Given the description of an element on the screen output the (x, y) to click on. 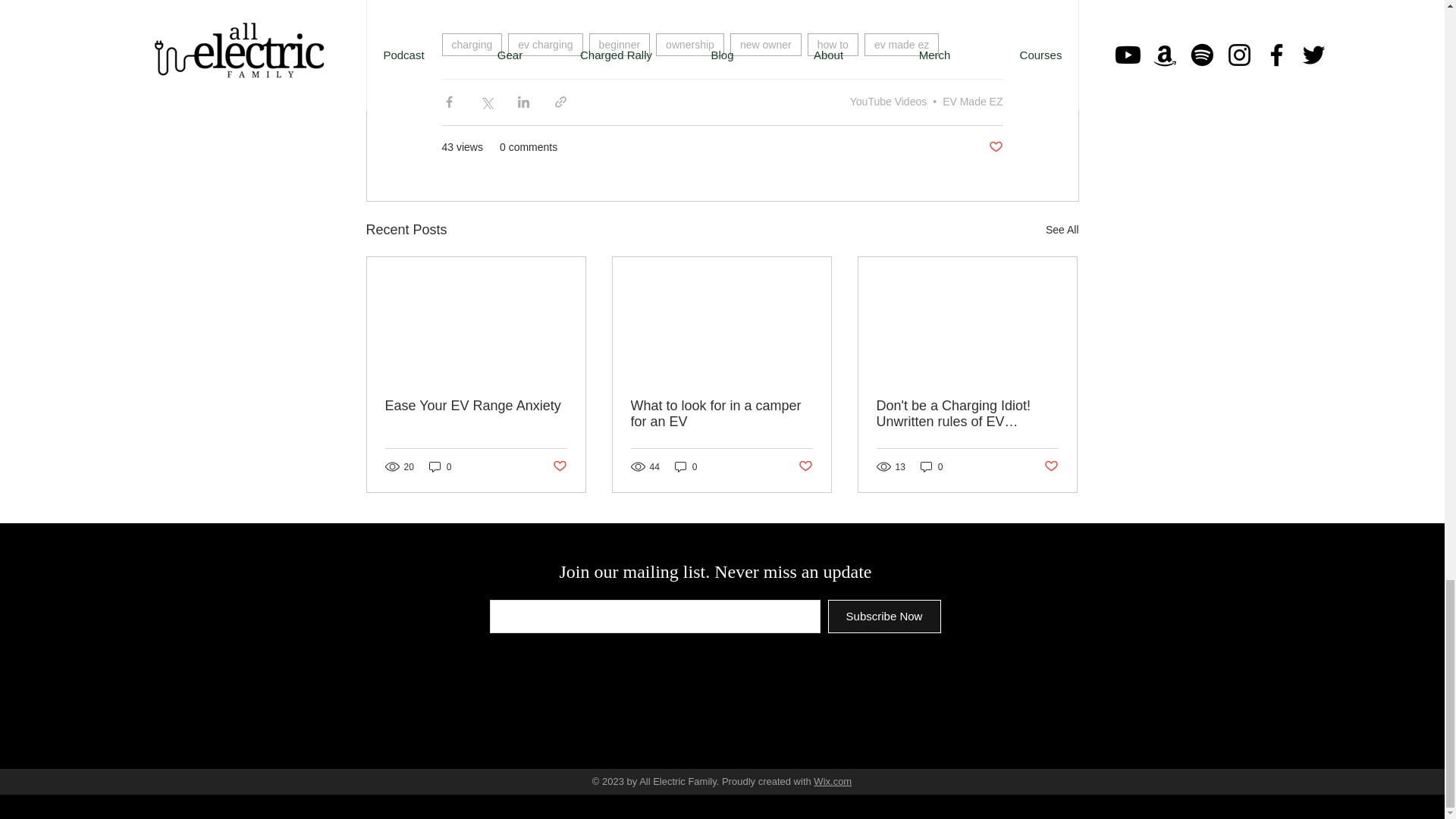
ev charging (545, 44)
charging (471, 44)
